Given the description of an element on the screen output the (x, y) to click on. 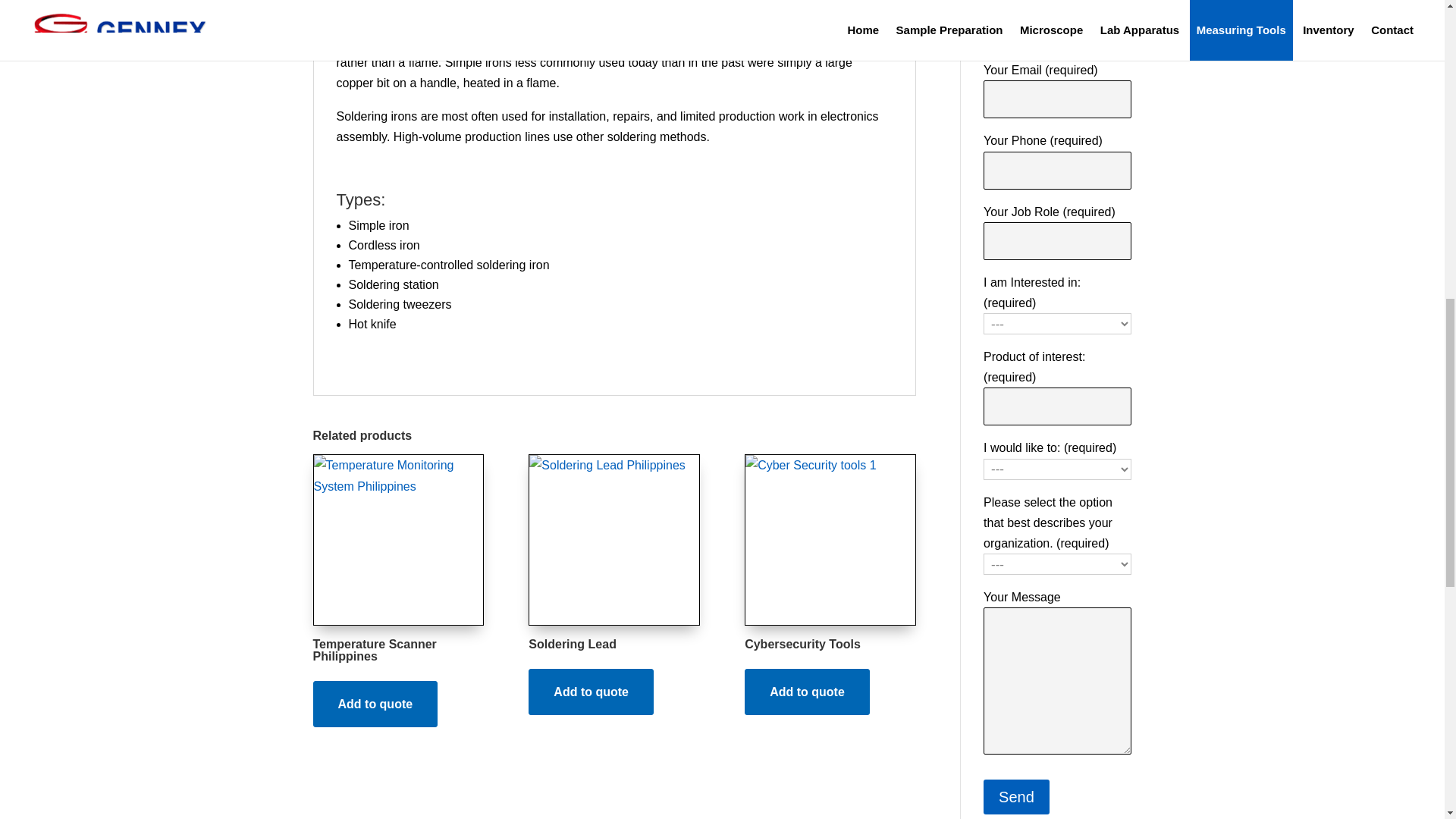
Add to quote (375, 703)
Add to quote (806, 691)
Send (1016, 796)
Add to quote (590, 691)
